Given the description of an element on the screen output the (x, y) to click on. 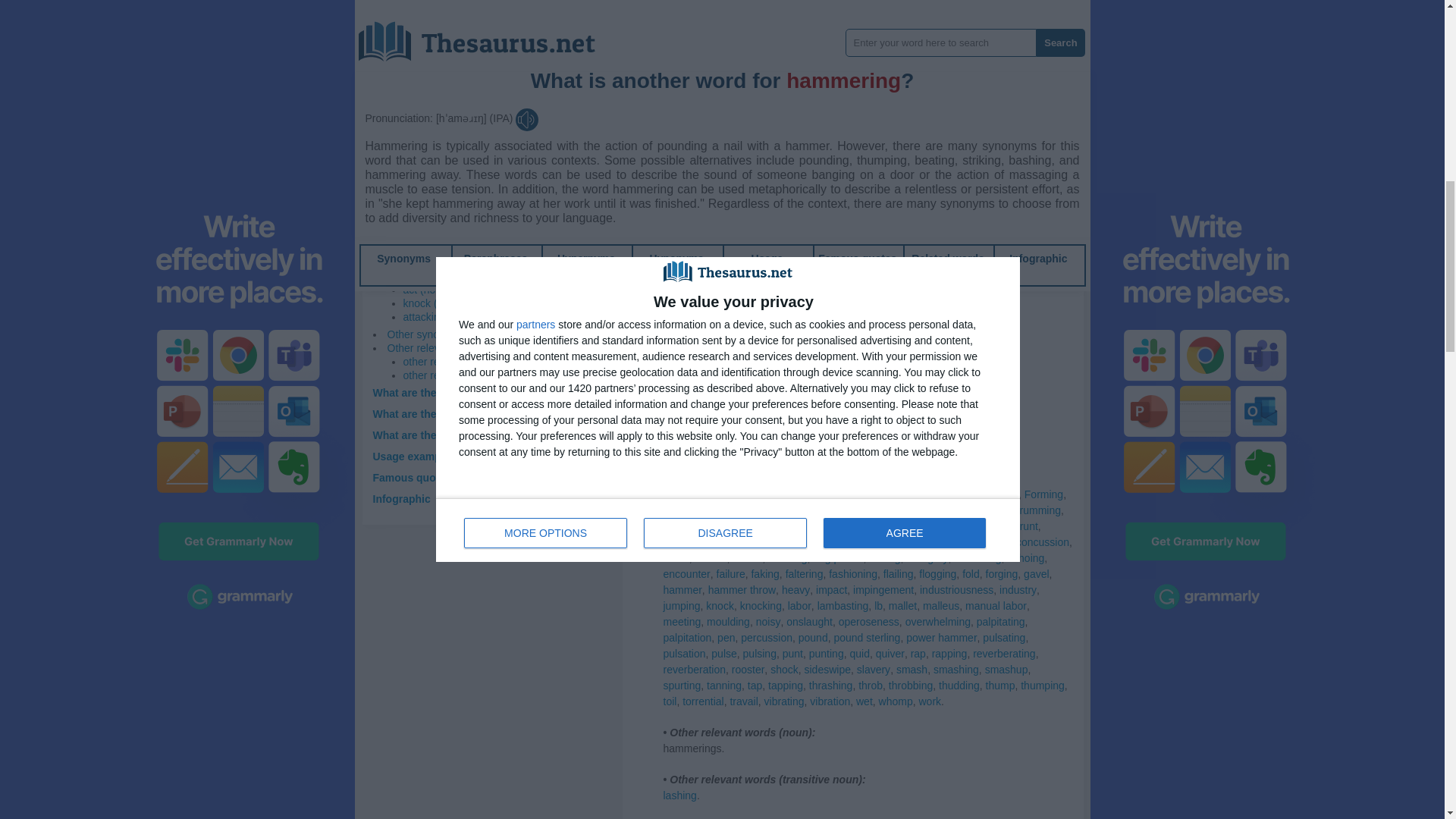
Infographic (401, 499)
Synonyms for Hammering (692, 28)
Synonyms for Hammering (735, 220)
Other relevant words: (437, 347)
Synonyms for Hammering (944, 12)
Synonyms for Hammering (775, 12)
Synonyms for Hammering (785, 60)
What are the hypernyms for hammering? (475, 413)
Usage examples for Hammering (453, 456)
Synonyms for Hammering (683, 220)
